Given the description of an element on the screen output the (x, y) to click on. 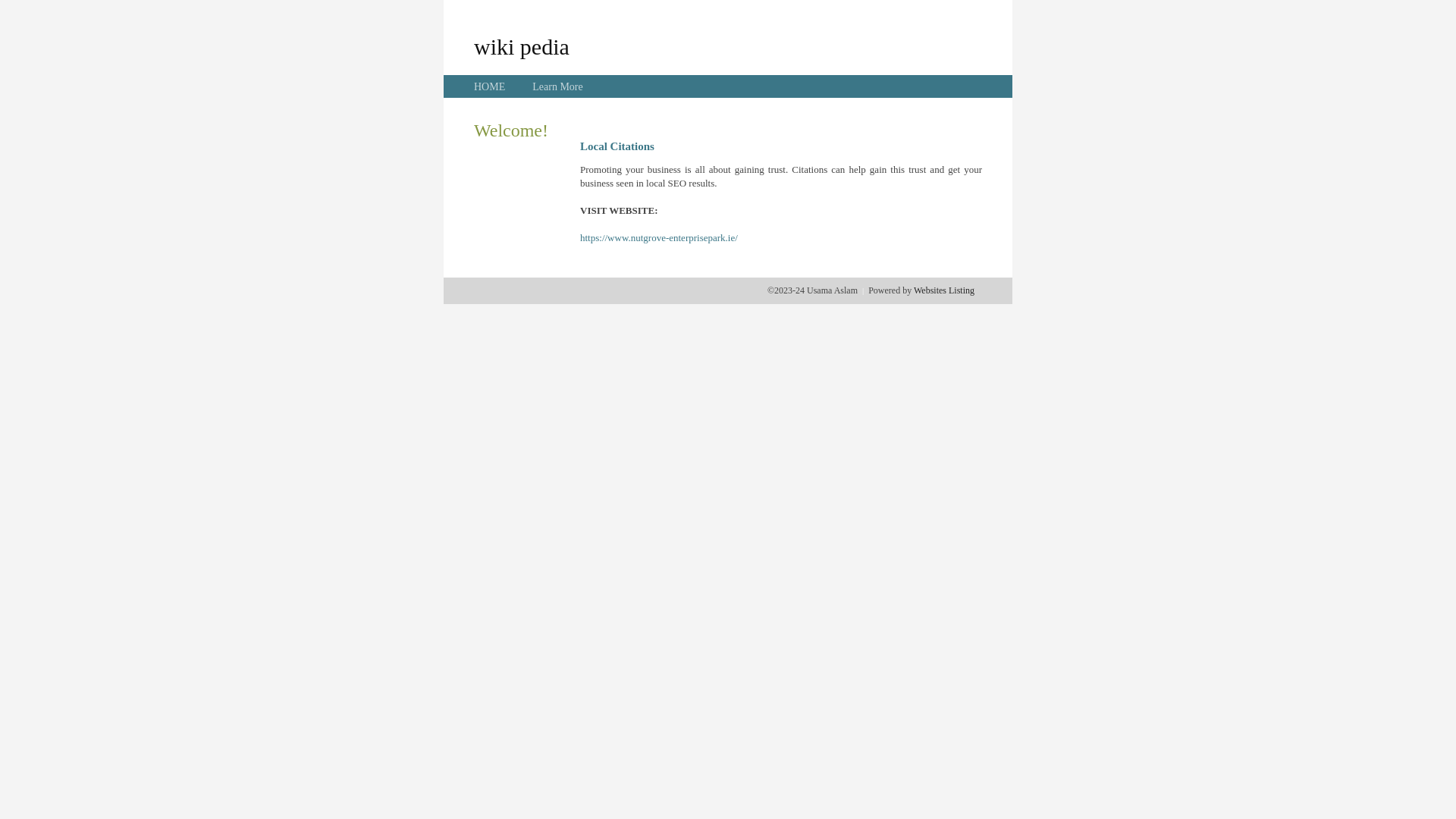
Websites Listing Element type: text (943, 290)
https://www.nutgrove-enterprisepark.ie/ Element type: text (658, 237)
HOME Element type: text (489, 86)
wiki pedia Element type: text (521, 46)
Learn More Element type: text (557, 86)
